Given the description of an element on the screen output the (x, y) to click on. 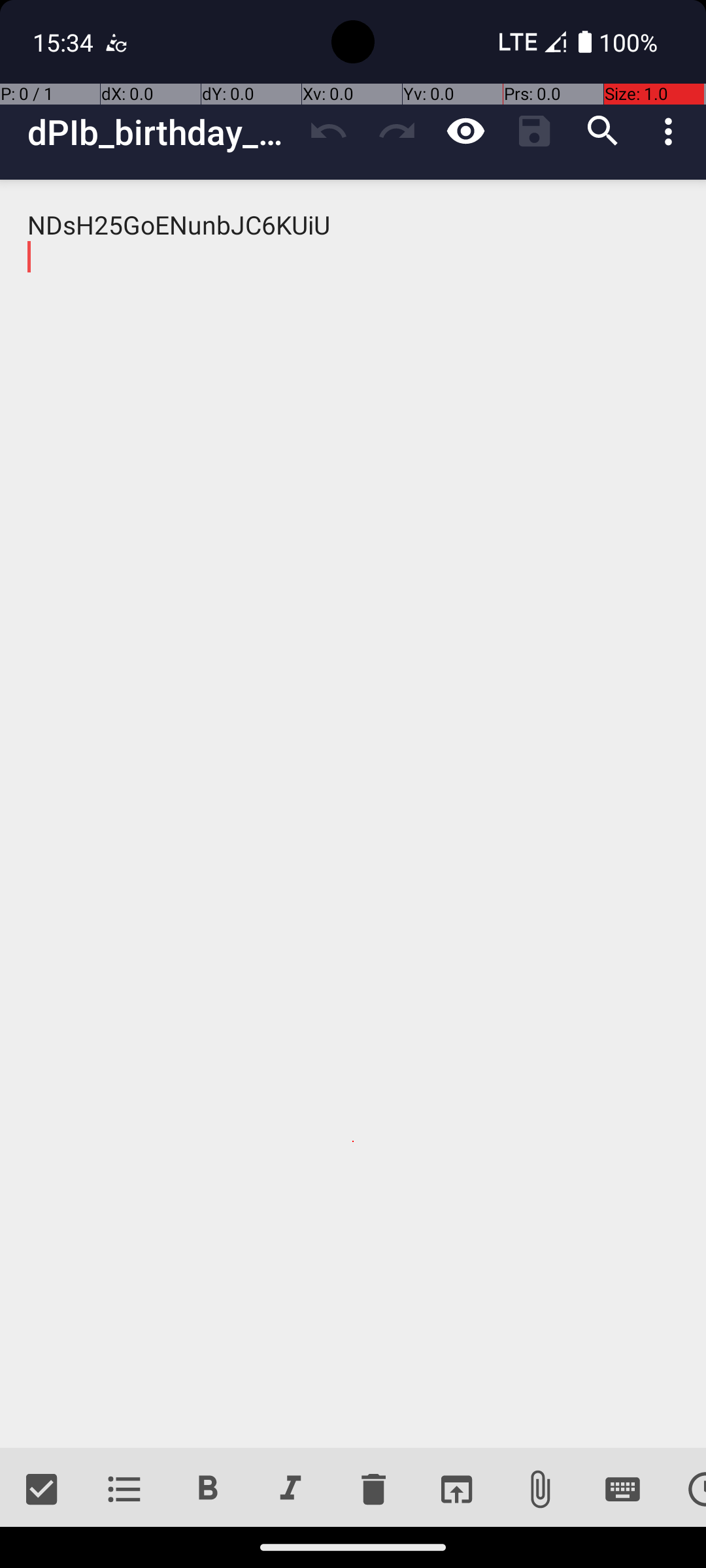
dPIb_birthday_gift_ideas_mom Element type: android.widget.TextView (160, 131)
NDsH25GoENunbJC6KUiU
 Element type: android.widget.EditText (353, 813)
